Given the description of an element on the screen output the (x, y) to click on. 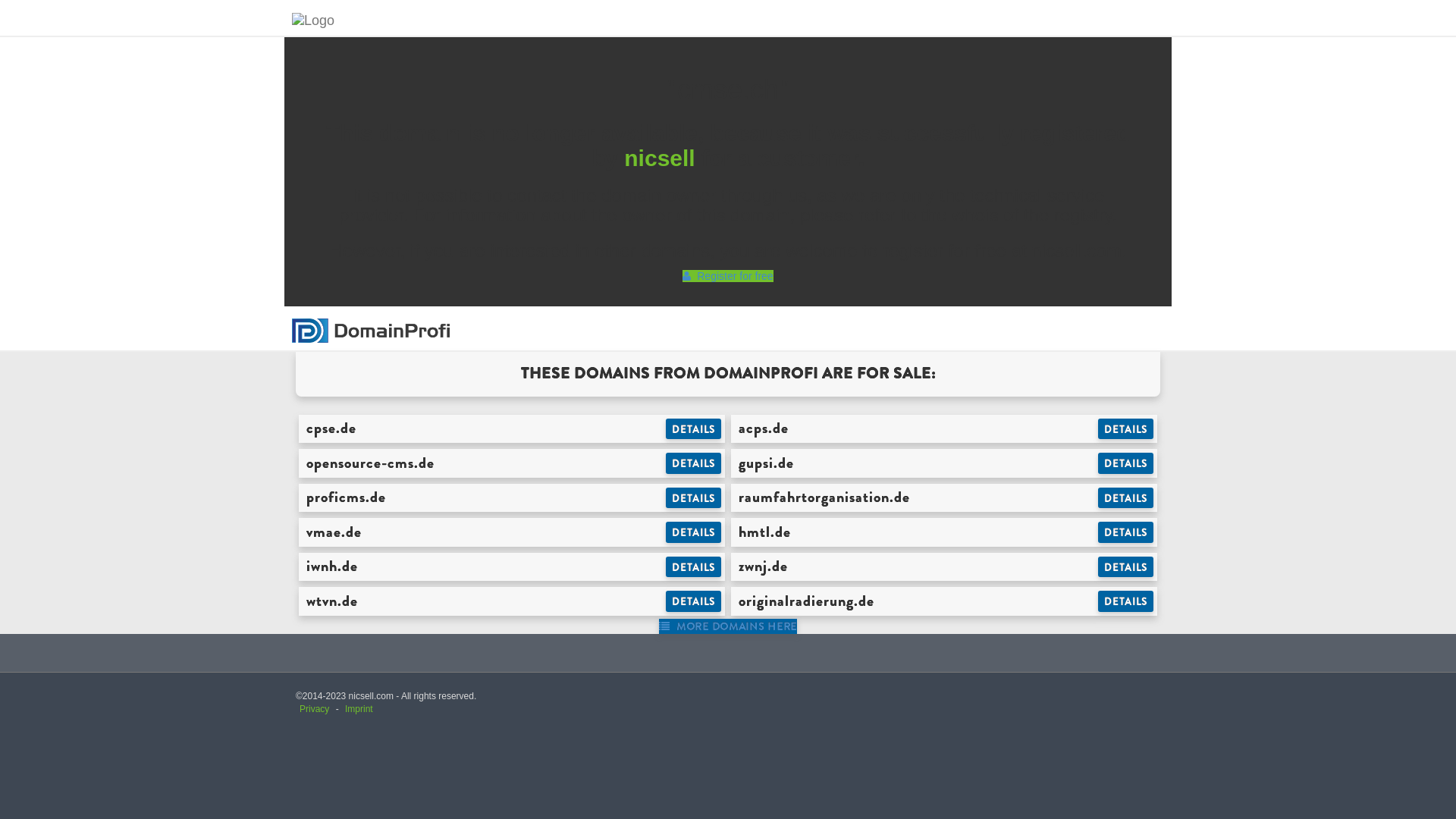
DETAILS Element type: text (1125, 462)
DETAILS Element type: text (1125, 600)
DETAILS Element type: text (693, 600)
DETAILS Element type: text (693, 497)
DETAILS Element type: text (693, 428)
  Register for free Element type: text (727, 275)
nicsell Element type: text (659, 157)
DETAILS Element type: text (693, 462)
DETAILS Element type: text (1125, 566)
  MORE DOMAINS HERE Element type: text (727, 625)
Privacy Element type: text (314, 708)
Imprint Element type: text (359, 708)
DETAILS Element type: text (1125, 497)
DETAILS Element type: text (693, 531)
DETAILS Element type: text (1125, 428)
DETAILS Element type: text (693, 566)
DETAILS Element type: text (1125, 531)
